Given the description of an element on the screen output the (x, y) to click on. 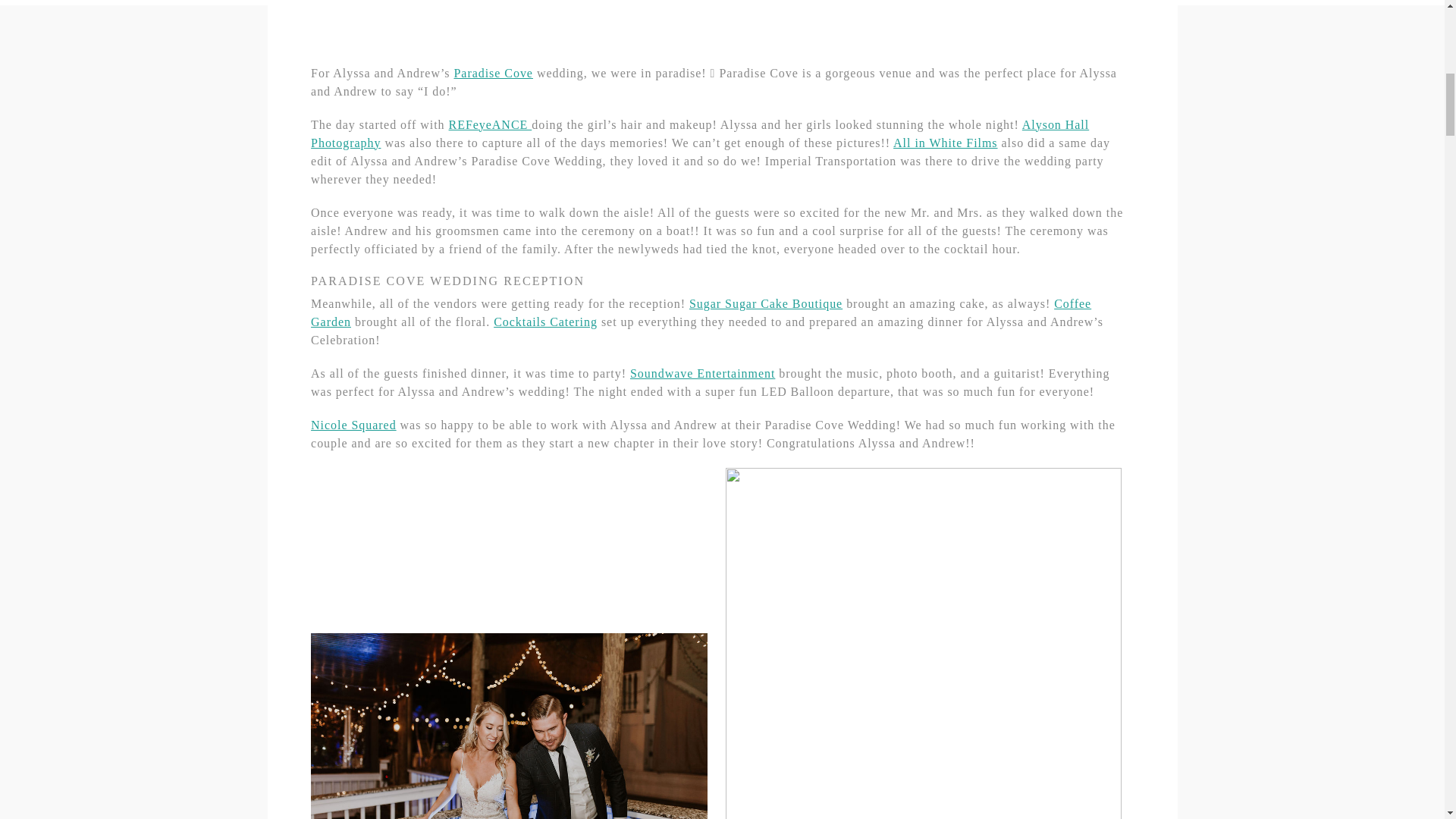
Coffee Garden (700, 312)
Paradise Cove (492, 72)
All in White Films (945, 142)
Alyson Hall Photography (700, 133)
Sugar Sugar Cake Boutique (765, 303)
Nicole Squared (353, 424)
Cocktails Catering (544, 321)
Soundwave Entertainment (702, 373)
REFeyeANCE (490, 124)
